Given the description of an element on the screen output the (x, y) to click on. 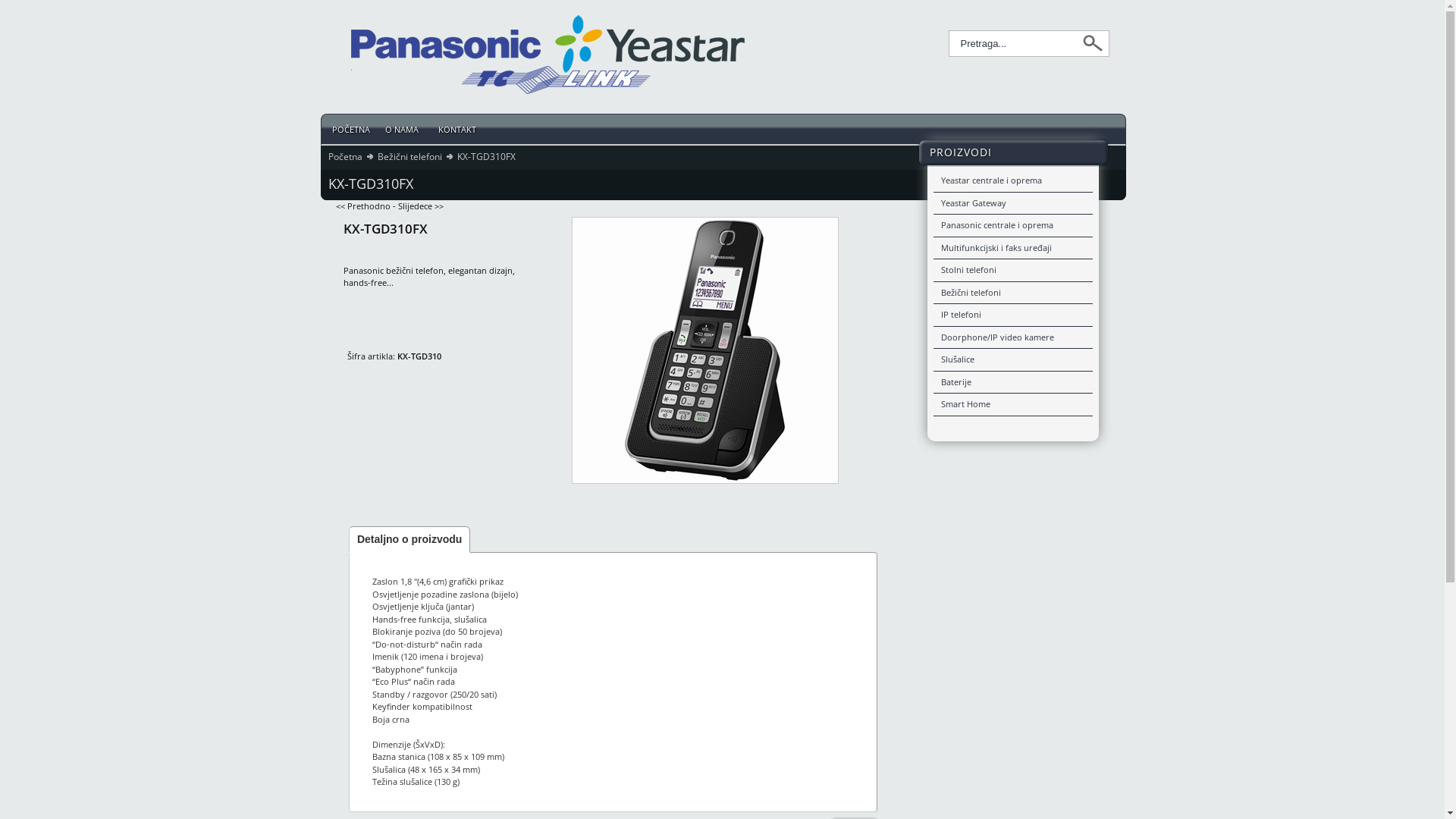
Stolni telefoni Element type: text (1012, 270)
KONTAKT   Element type: text (459, 129)
Panasonic centrale i oprema Element type: text (1012, 225)
Yeastar centrale i oprema Element type: text (1012, 180)
IP telefoni Element type: text (1012, 315)
O NAMA   Element type: text (403, 129)
Doorphone/IP video kamere Element type: text (1012, 337)
Yeastar Gateway Element type: text (1012, 203)
Smart Home Element type: text (1012, 404)
Slijedece >> Element type: text (419, 205)
<< Prethodno Element type: text (362, 205)
Baterije Element type: text (1012, 382)
KX-TGD310FX Element type: hover (704, 349)
